Given the description of an element on the screen output the (x, y) to click on. 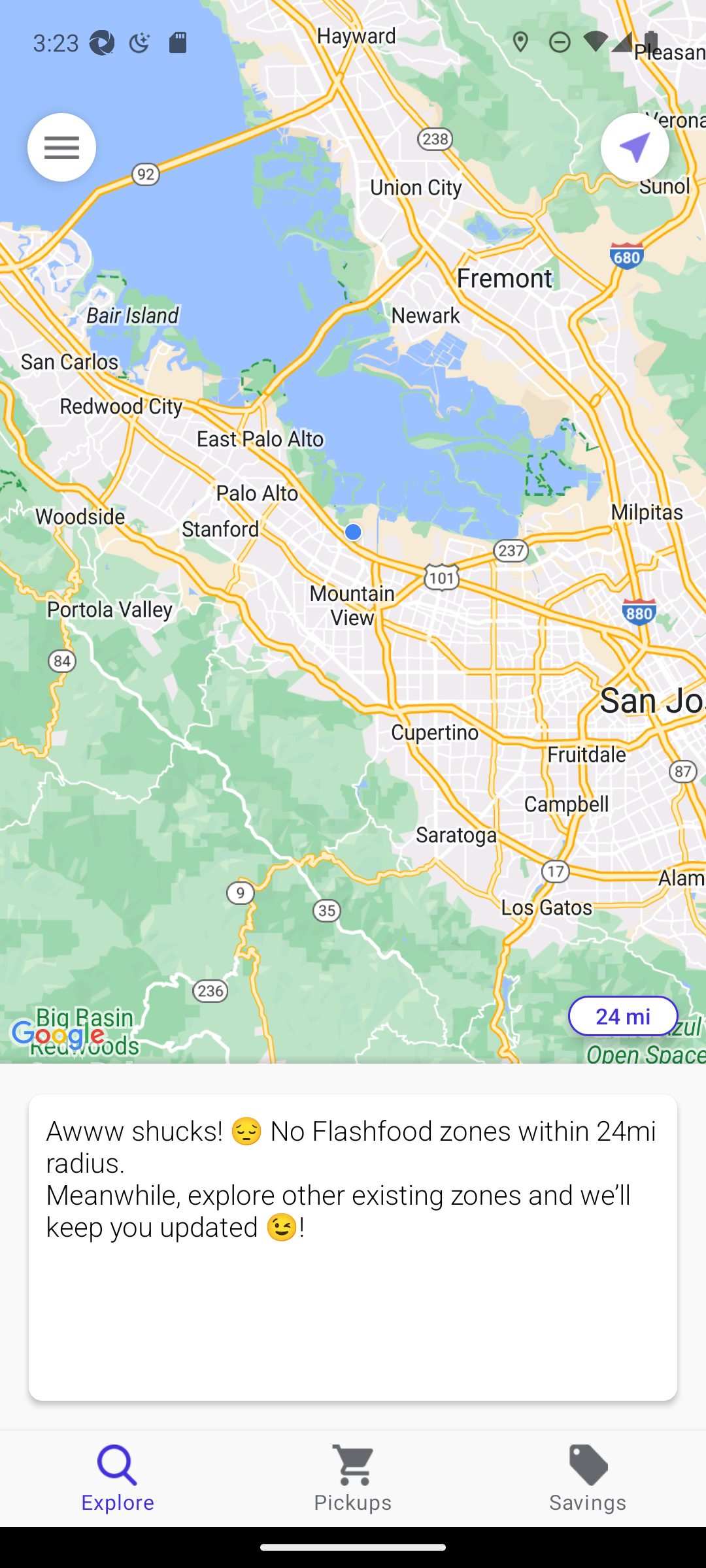
Menu (61, 146)
Current location (634, 146)
24 mi (623, 1015)
Pickups (352, 1478)
Savings (588, 1478)
